Given the description of an element on the screen output the (x, y) to click on. 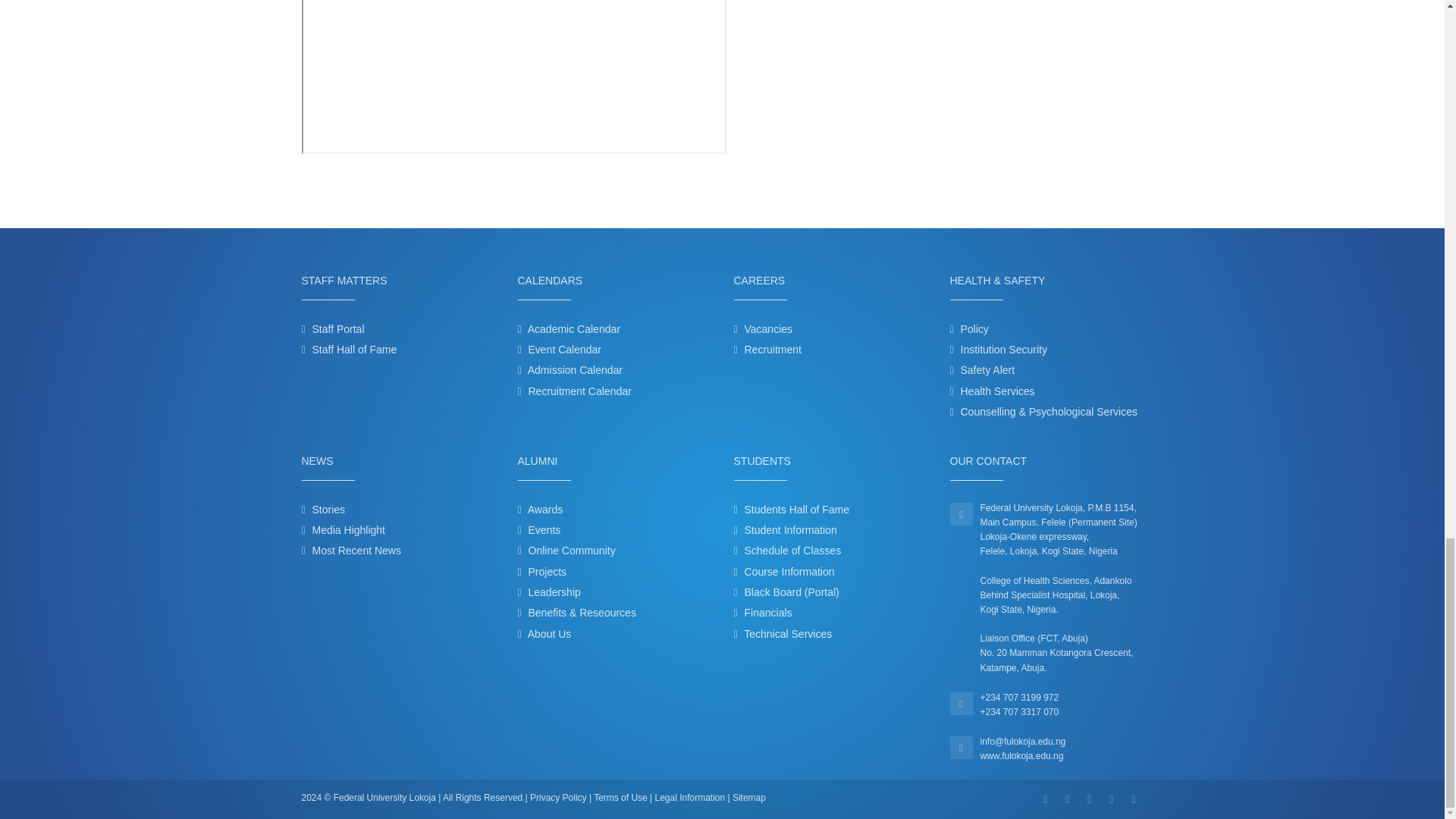
Instagram (1111, 799)
Twitter (1066, 799)
Youtube (1133, 799)
Facebook (1044, 799)
Linkedin (1088, 799)
